Given the description of an element on the screen output the (x, y) to click on. 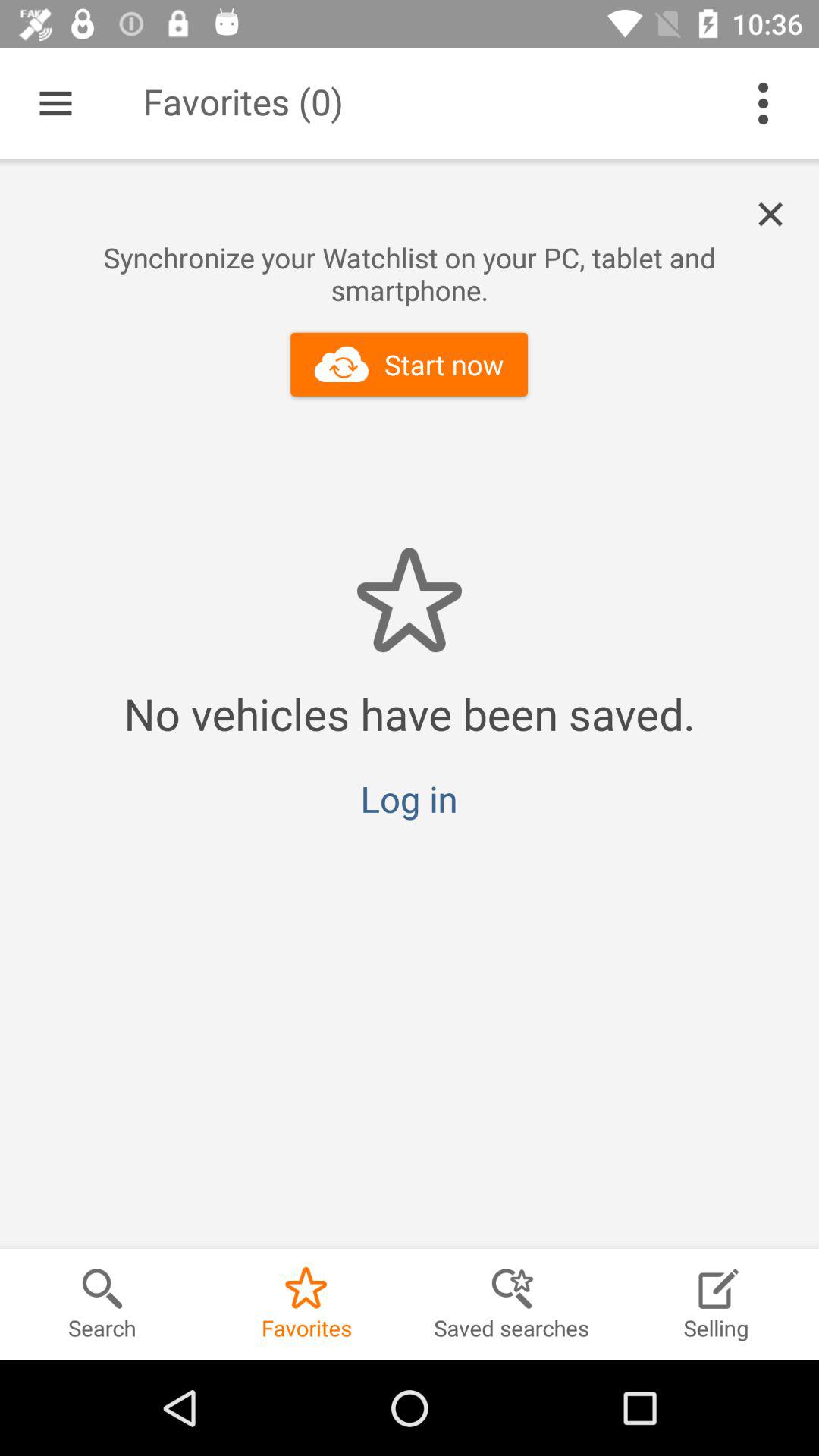
turn on the icon to the right of favorites (0) icon (763, 103)
